Given the description of an element on the screen output the (x, y) to click on. 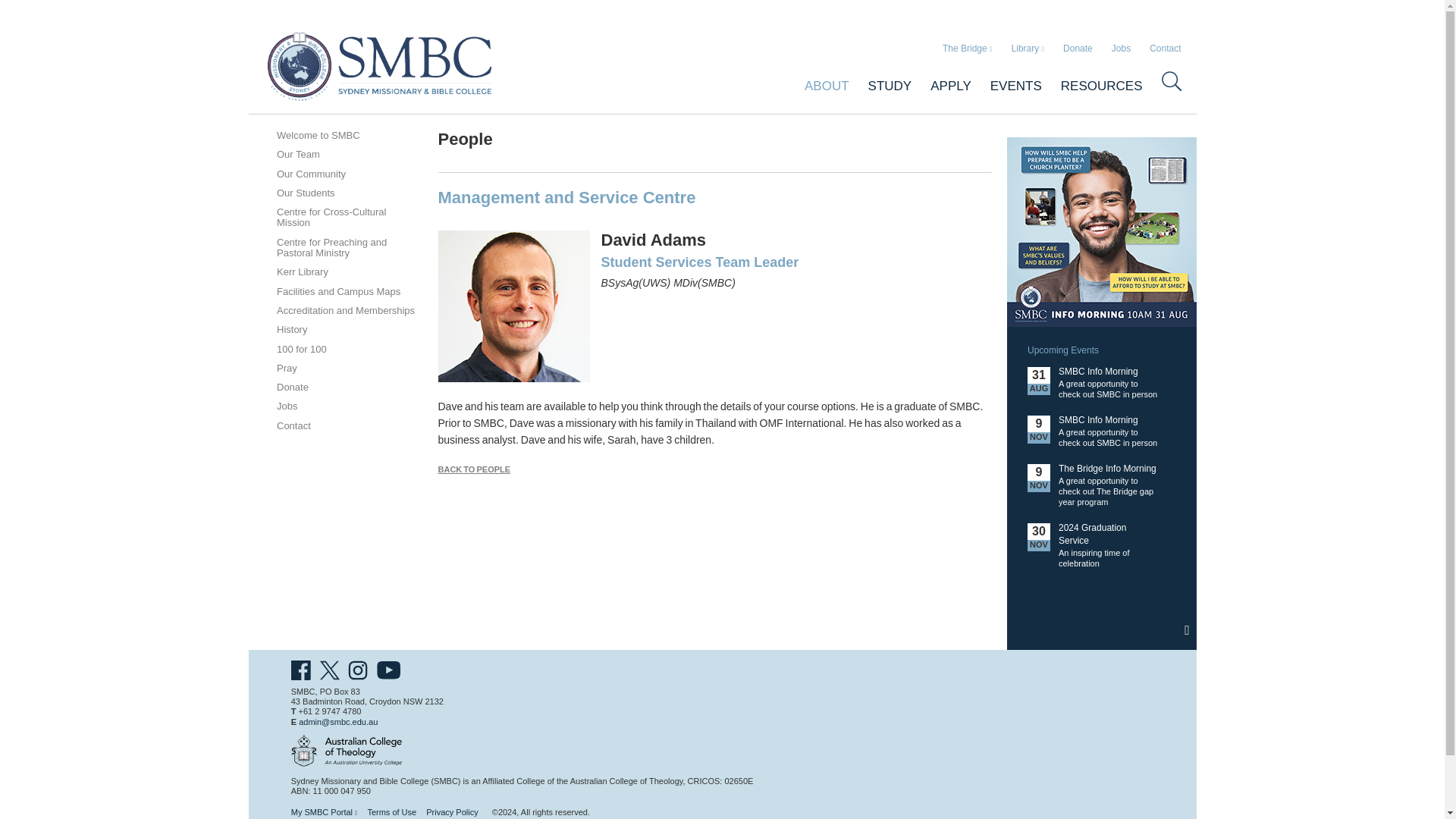
Library (1028, 48)
The Bridge (967, 48)
STUDY (880, 85)
Contact (1165, 48)
Jobs (1121, 48)
ABOUT (817, 85)
Donate (1077, 48)
